Given the description of an element on the screen output the (x, y) to click on. 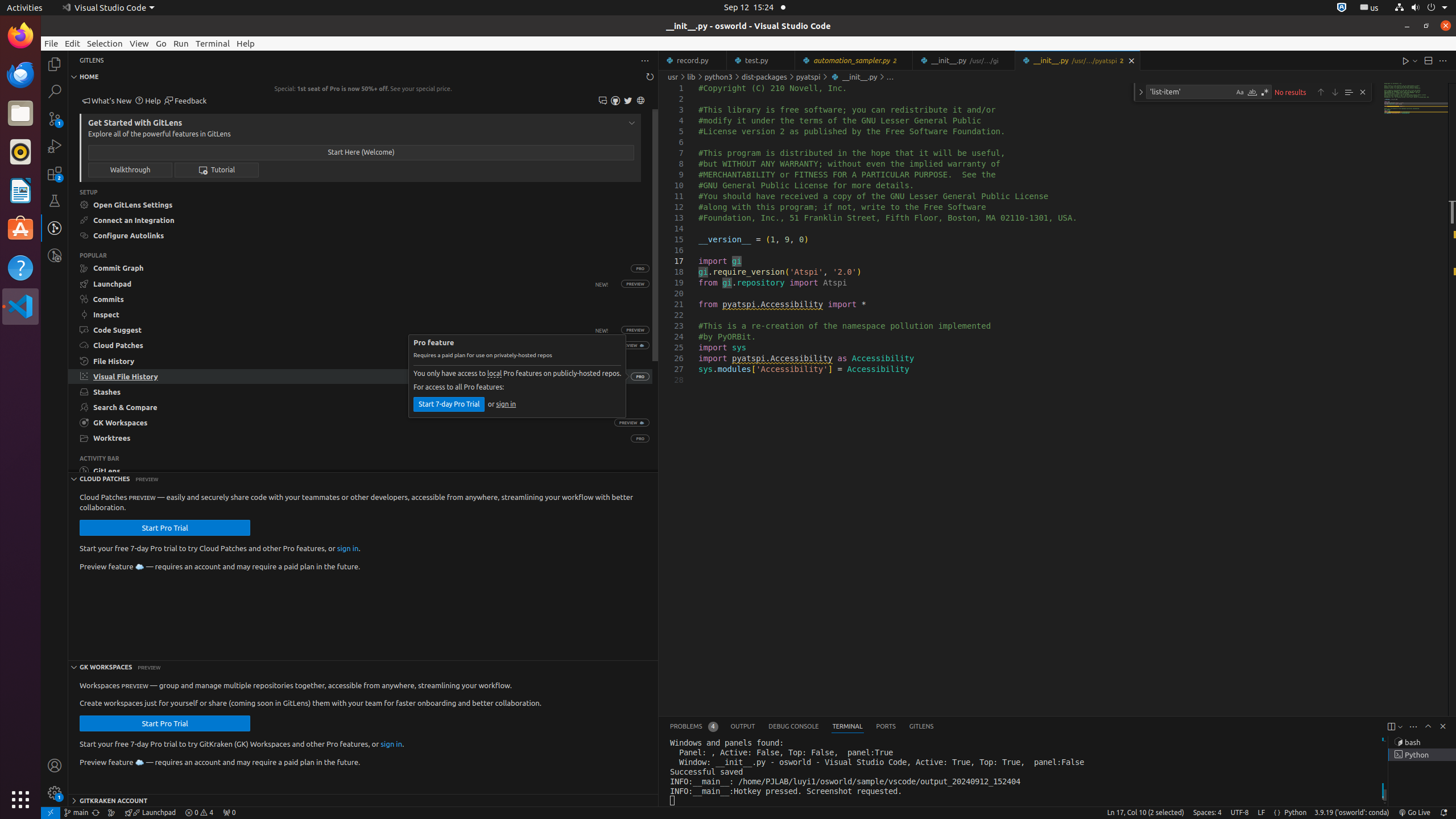
Start Here (Welcome) Element type: link (360, 152)
UTF-8 Element type: push-button (1239, 812)
Terminal 1 bash Element type: list-item (1422, 741)
Run and Debug (Ctrl+Shift+D) Element type: page-tab (54, 145)
